Given the description of an element on the screen output the (x, y) to click on. 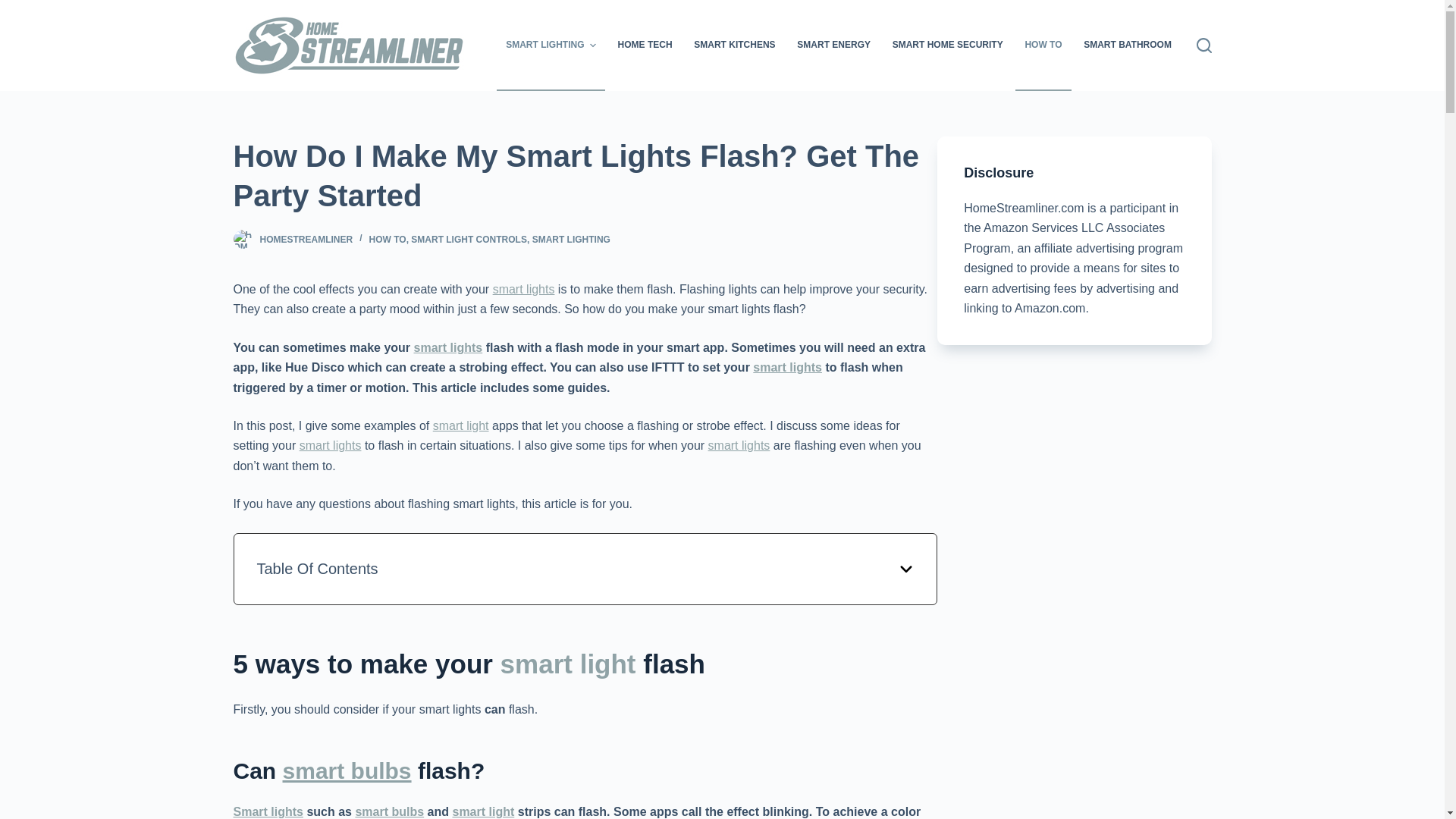
Skip to content (15, 7)
SMART KITCHENS (734, 45)
How Do I Make My Smart Lights Flash? Get The Party Started (584, 175)
Posts by HomeStreamliner (305, 239)
HOMESTREAMLINER (305, 239)
SMART LIGHTING (550, 45)
SMART ENERGY (833, 45)
SMART BATHROOM (1127, 45)
SMART HOME SECURITY (946, 45)
